Given the description of an element on the screen output the (x, y) to click on. 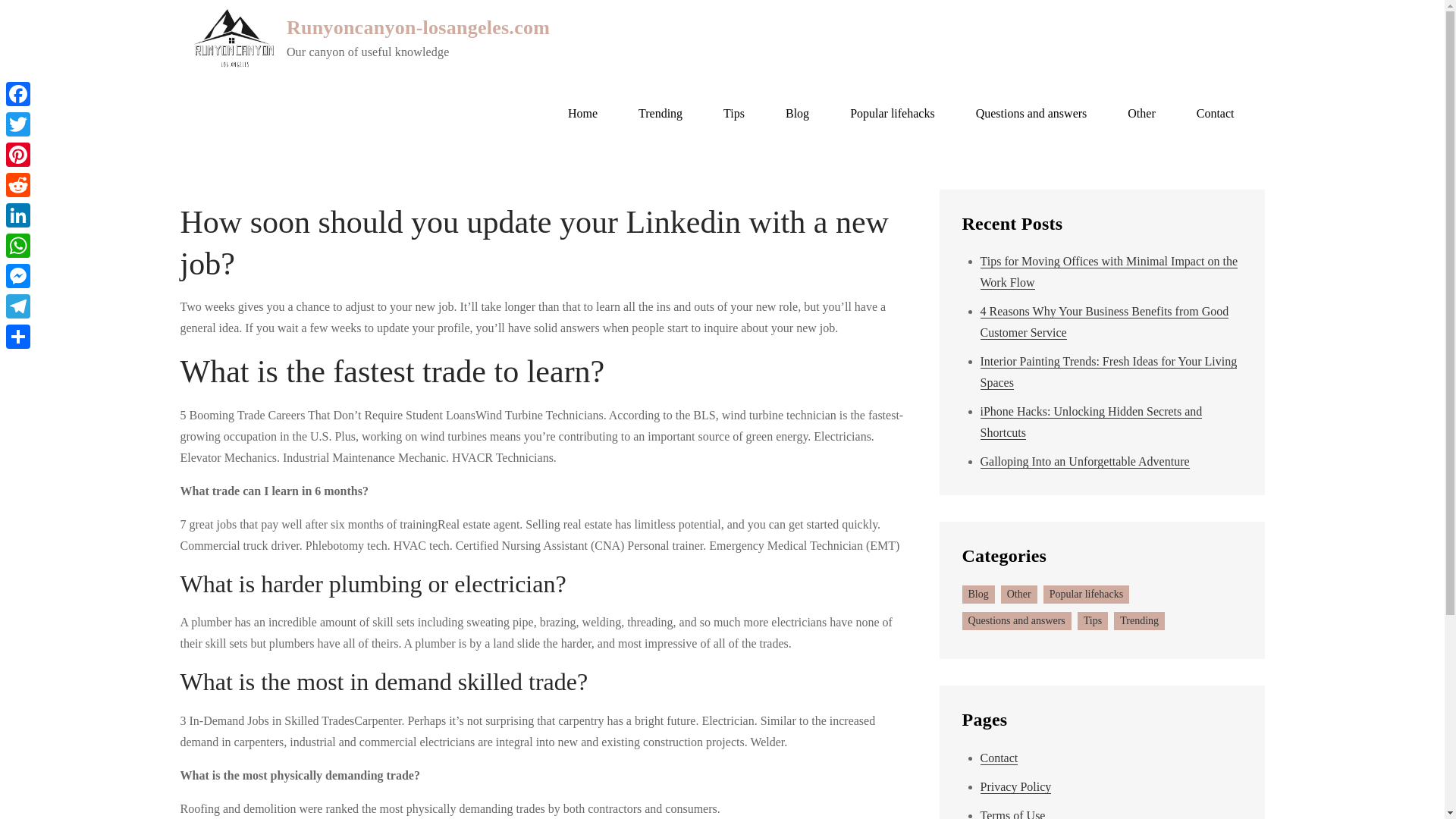
iPhone Hacks: Unlocking Hidden Secrets and Shortcuts (1090, 421)
Questions and answers (1015, 620)
Contact (998, 757)
Pinterest (17, 154)
Blog (977, 594)
Twitter (17, 123)
Popular lifehacks (892, 113)
Questions and answers (1031, 113)
Trending (1138, 620)
Galloping Into an Unforgettable Adventure (1084, 461)
Privacy Policy (1015, 786)
Tips (733, 113)
Popular lifehacks (1086, 594)
Facebook (17, 93)
LinkedIn (17, 214)
